Given the description of an element on the screen output the (x, y) to click on. 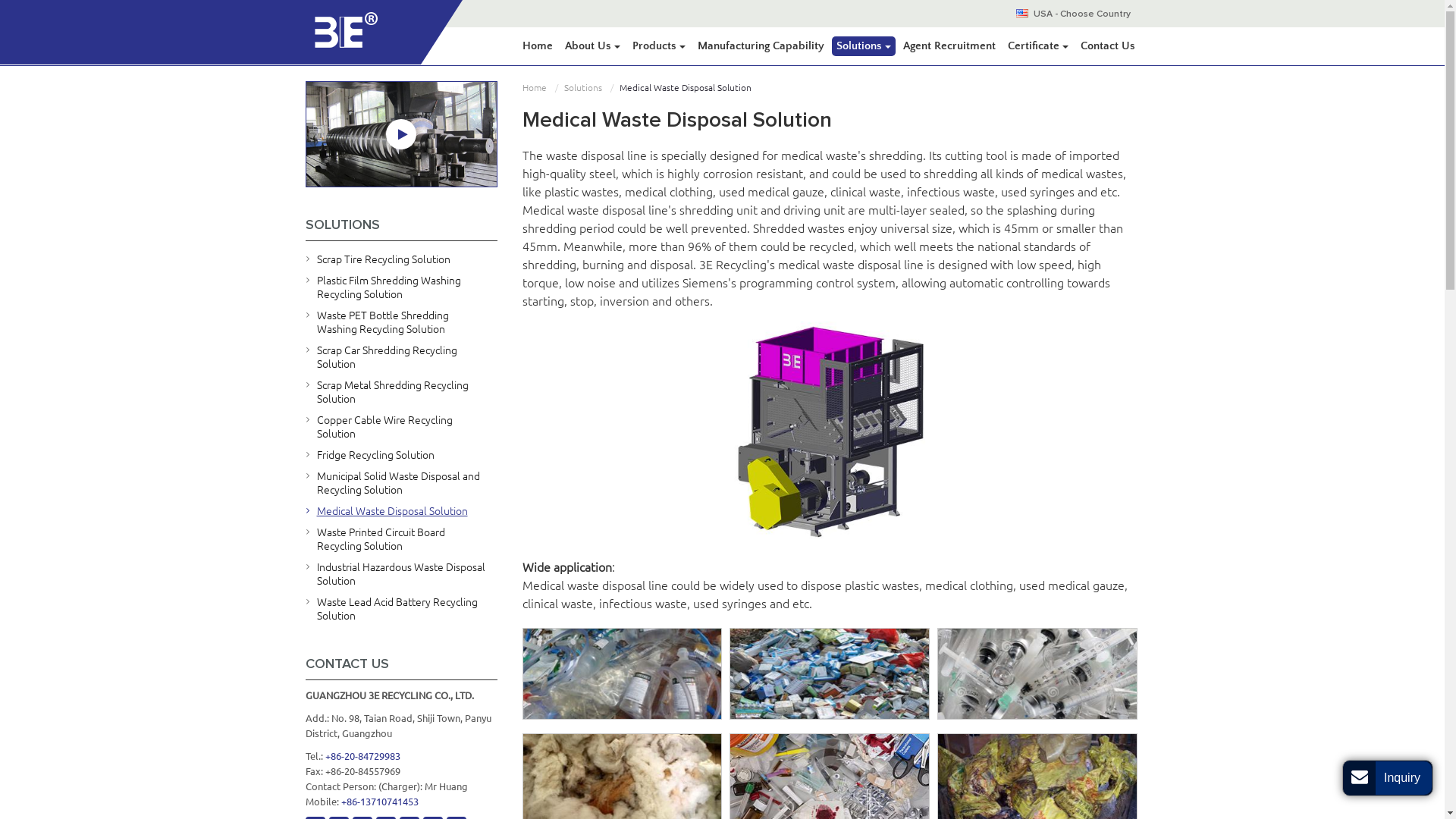
Scrap Metal Shredding Recycling Solution Element type: text (400, 391)
Certificate Element type: text (1037, 46)
Medical Waste Disposal Solution Element type: text (400, 510)
Medical Waste Disposal Solution Element type: hover (831, 431)
Home Element type: text (536, 46)
Manufacturing Capability Element type: text (760, 46)
Products Element type: text (658, 46)
CONTACT US Element type: text (400, 663)
SOLUTIONS Element type: text (400, 224)
Waste PET Bottle Shredding Washing Recycling Solution Element type: text (400, 321)
Wide application Element type: hover (828, 672)
Fridge Recycling Solution Element type: text (400, 454)
Solutions Element type: text (862, 46)
Agent Recruitment Element type: text (948, 46)
+86-13710741453 Element type: text (379, 801)
Waste Lead Acid Battery Recycling Solution Element type: text (400, 608)
Industrial Hazardous Waste Disposal Solution Element type: text (400, 573)
About Us Element type: text (591, 46)
Municipal Solid Waste Disposal and Recycling Solution Element type: text (400, 482)
Copper Cable Wire Recycling Solution Element type: text (400, 426)
Plastic Film Shredding Washing Recycling Solution Element type: text (400, 286)
Solutions Element type: text (585, 87)
Wide application Element type: hover (621, 672)
Wide application Element type: hover (1036, 672)
Inquiry Element type: text (1387, 777)
USA - Choose Country Element type: text (1085, 13)
Contact Us Element type: text (1107, 46)
Scrap Car Shredding Recycling Solution Element type: text (400, 356)
+86-20-84729983 Element type: text (361, 755)
Home Element type: text (535, 87)
USA - Choose Country Element type: text (909, 12)
Waste Printed Circuit Board Recycling Solution Element type: text (400, 538)
Scrap Tire Recycling Solution Element type: text (400, 258)
